Given the description of an element on the screen output the (x, y) to click on. 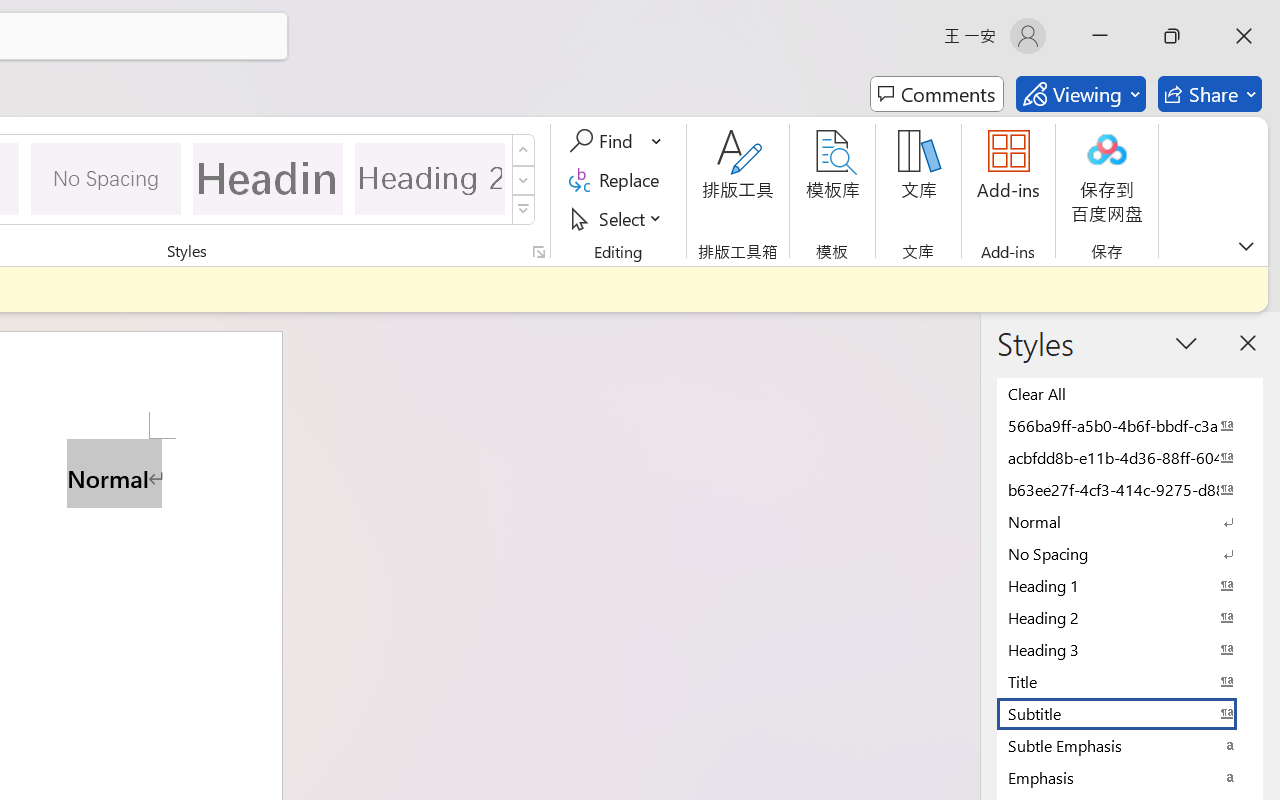
acbfdd8b-e11b-4d36-88ff-6049b138f862 (1130, 457)
566ba9ff-a5b0-4b6f-bbdf-c3ab41993fc2 (1130, 425)
Subtitle (1130, 713)
b63ee27f-4cf3-414c-9275-d88e3f90795e (1130, 489)
Subtle Emphasis (1130, 745)
Heading 1 (267, 178)
Heading 3 (1130, 649)
Replace... (617, 179)
No Spacing (1130, 553)
Styles... (538, 252)
Title (1130, 681)
